Given the description of an element on the screen output the (x, y) to click on. 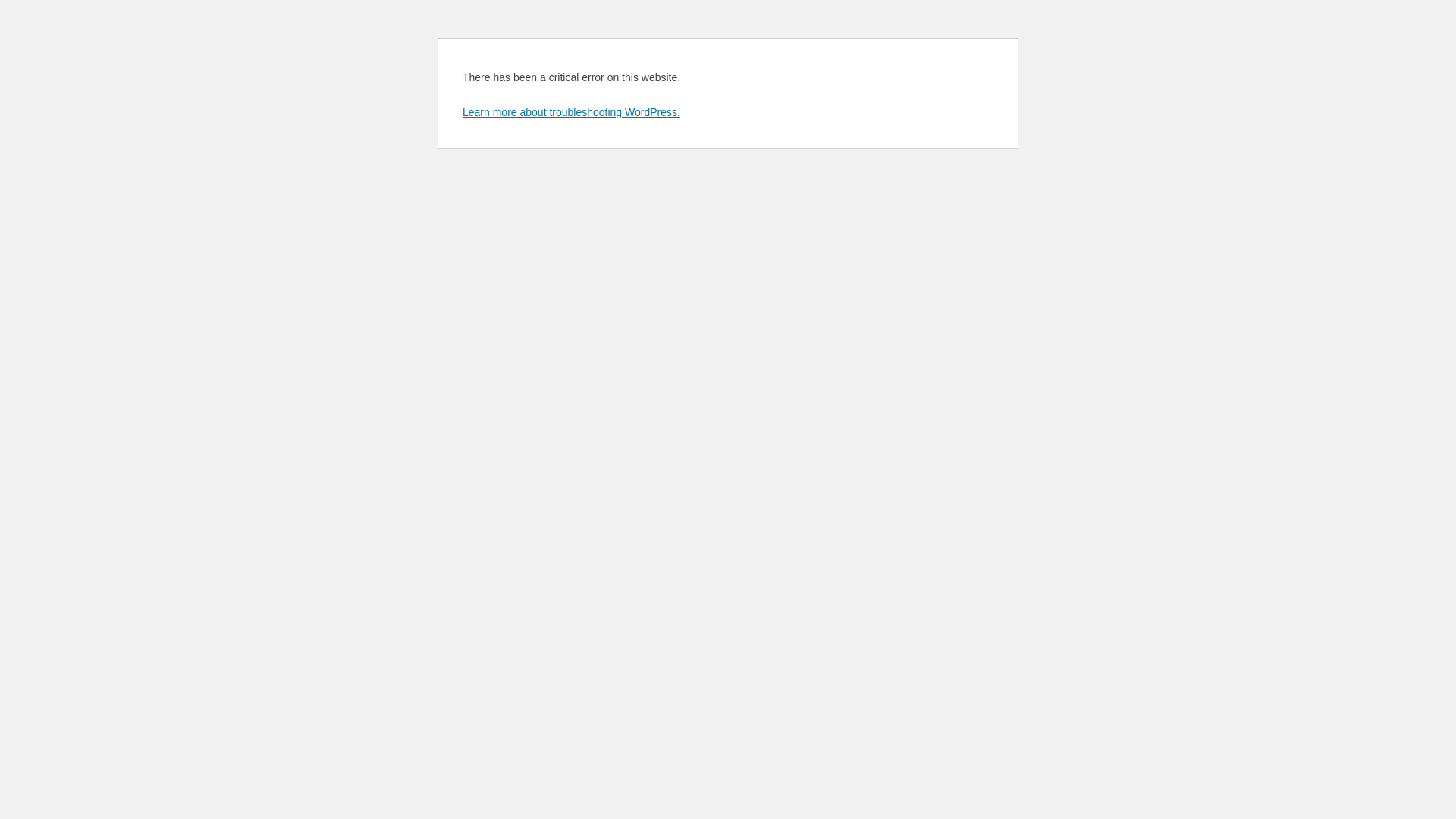
Learn more about troubleshooting WordPress. Element type: text (571, 112)
